Given the description of an element on the screen output the (x, y) to click on. 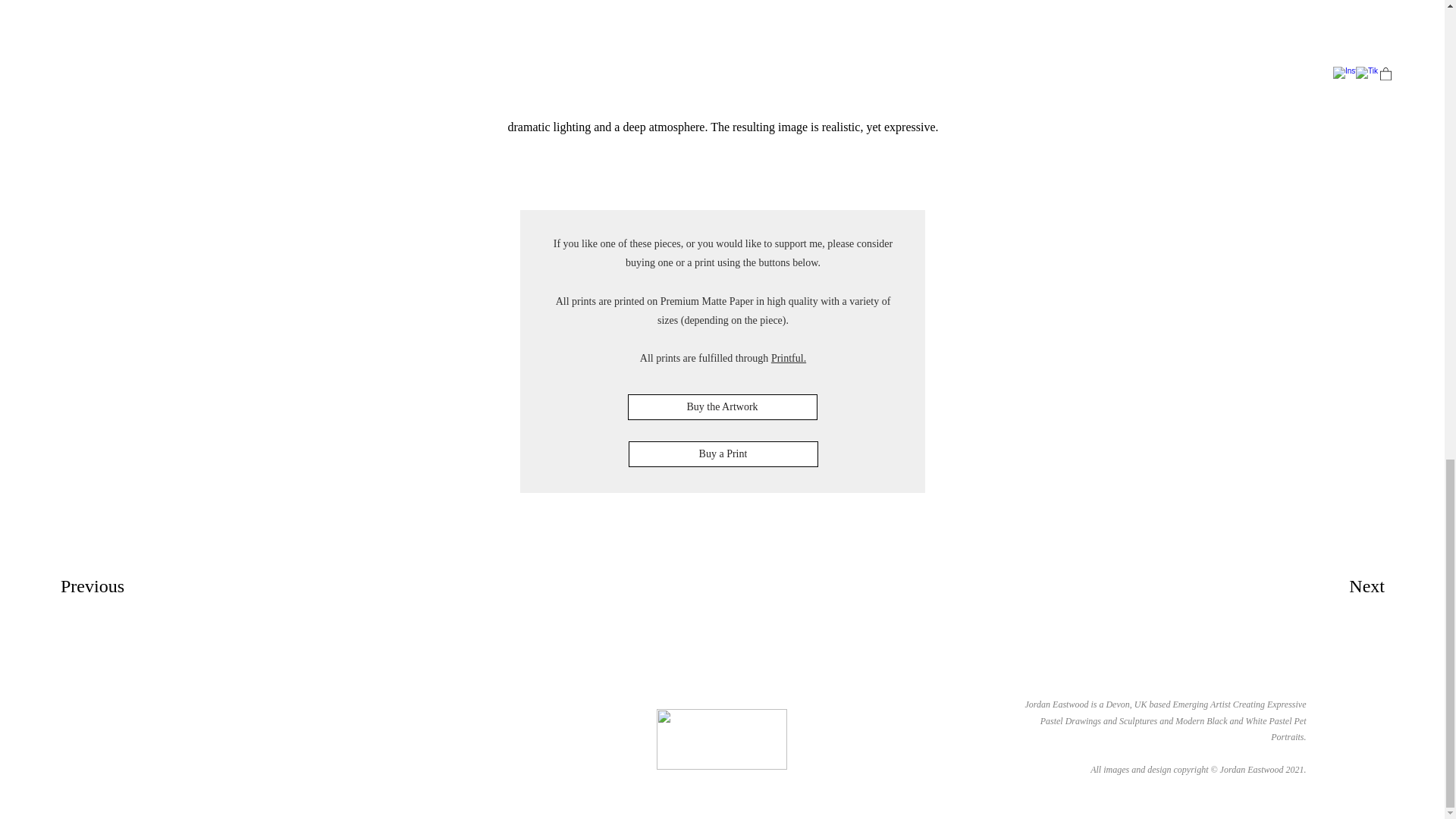
Buy a Print (721, 453)
Next (1334, 586)
Printful. (788, 357)
Support me on Ko-fi! (721, 739)
Previous (114, 586)
Buy the Artwork (721, 406)
